Given the description of an element on the screen output the (x, y) to click on. 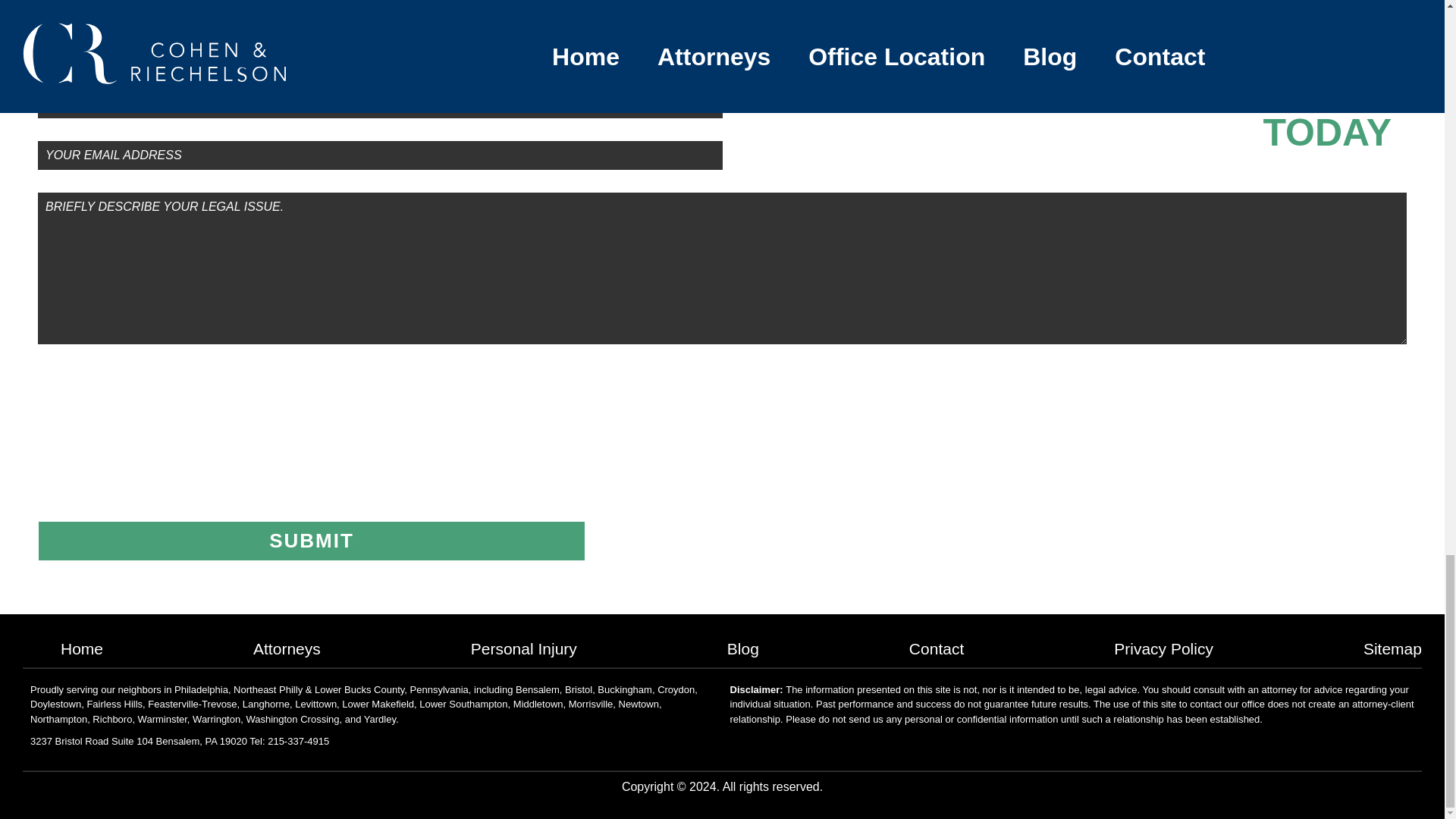
Submit (311, 540)
